Given the description of an element on the screen output the (x, y) to click on. 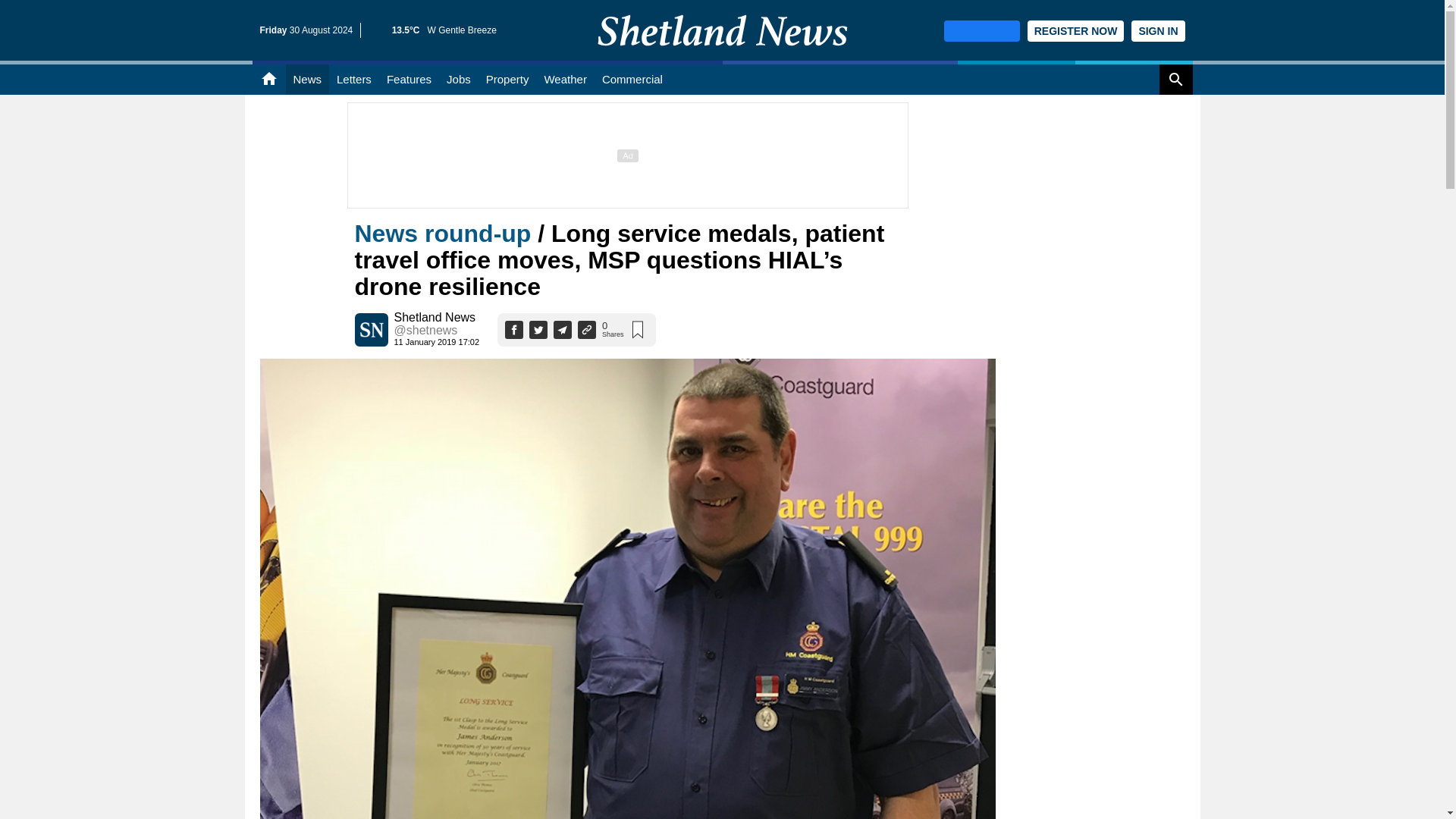
Shetland News Home (721, 56)
Find us on Facebook (981, 30)
REGISTER NOW (1075, 30)
News (307, 79)
SIGN IN (1158, 30)
News (307, 79)
Home (268, 79)
Register an account with Shetland News (1075, 30)
Sign in (1158, 30)
